Given the description of an element on the screen output the (x, y) to click on. 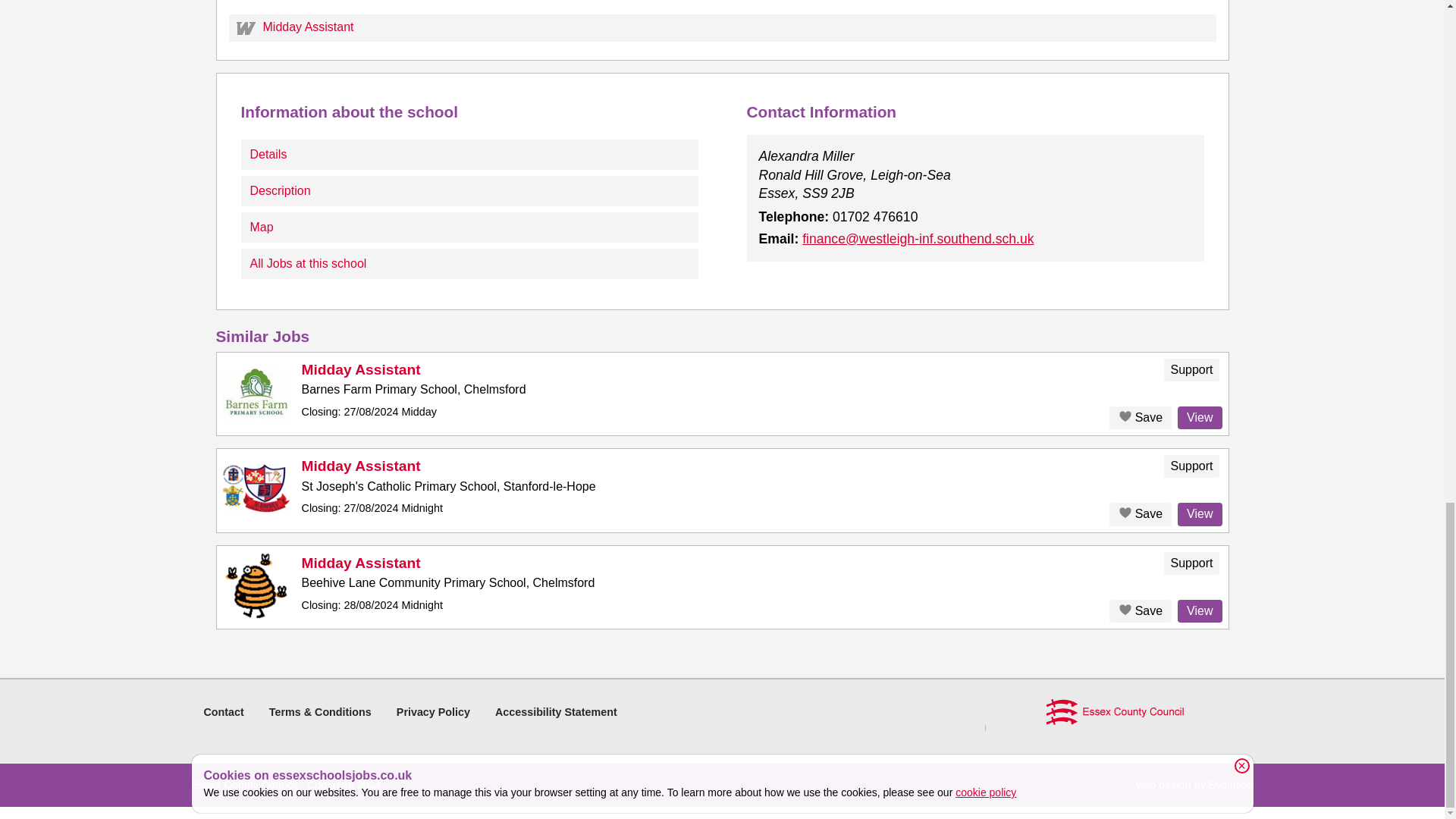
Map (469, 227)
Midday Assistant (360, 465)
Barnes Farm Primary School school crest. (255, 391)
Midday Assistant (360, 369)
Midday Assistant (721, 27)
Accessibility Statement (556, 711)
All Jobs at this school (469, 263)
St Joseph's Catholic Primary School school crest. (255, 488)
Save (1140, 513)
Details (469, 154)
